Given the description of an element on the screen output the (x, y) to click on. 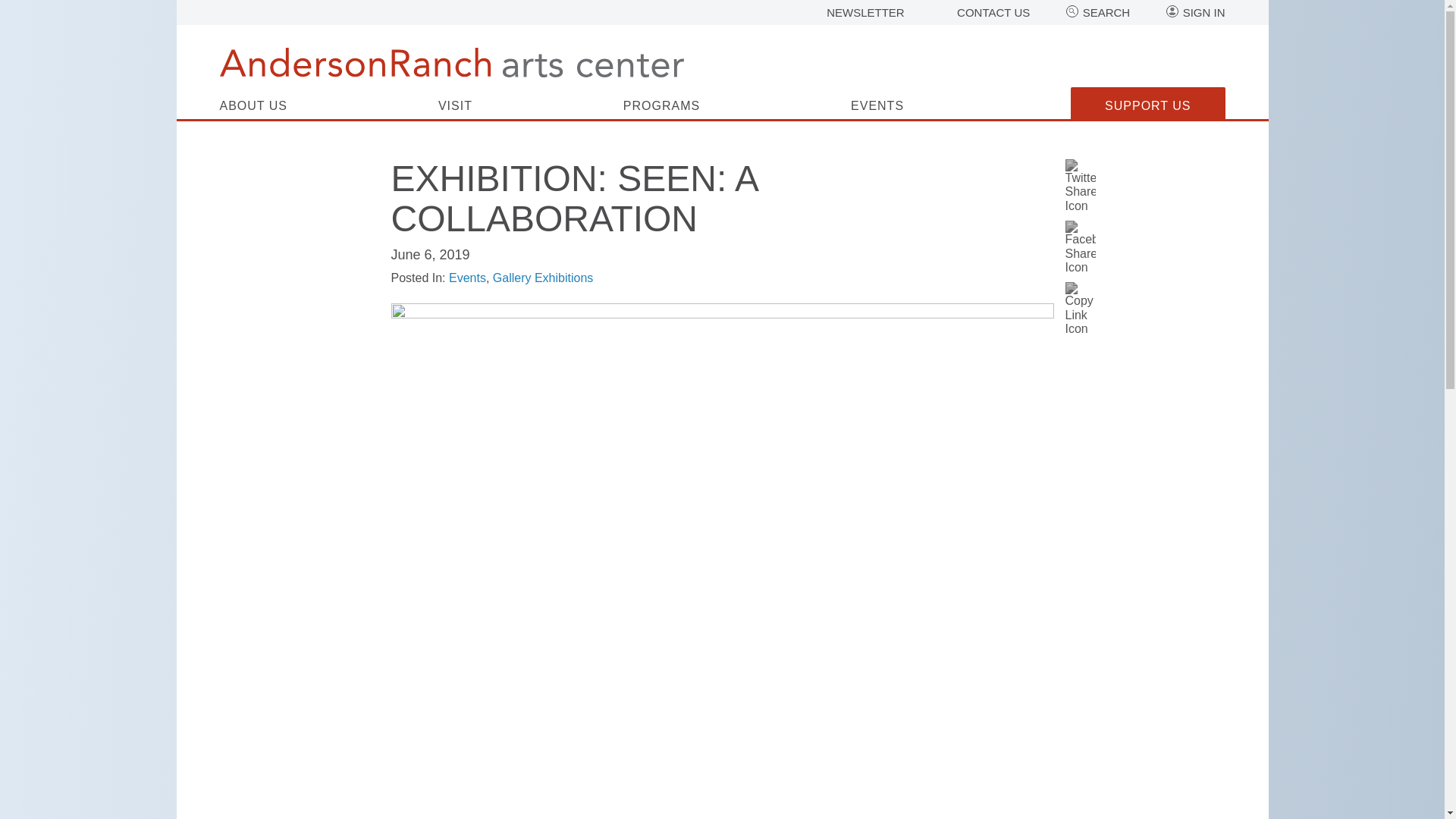
EVENTS (877, 110)
NEWSLETTER (865, 12)
CONTACT US (992, 12)
VISIT (454, 110)
PROGRAMS (661, 110)
ABOUT US (253, 110)
Home (451, 61)
